Given the description of an element on the screen output the (x, y) to click on. 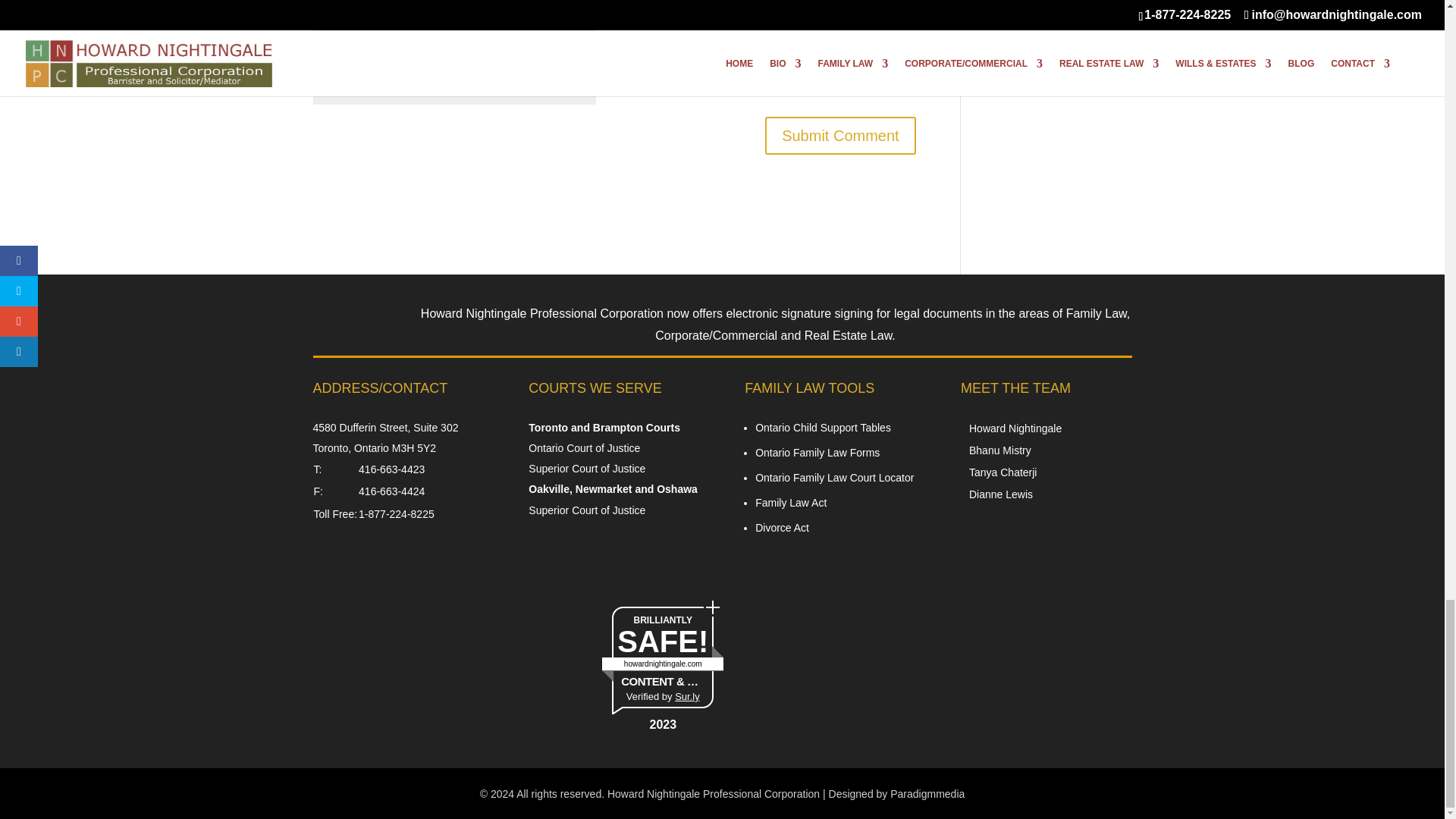
Family Law Act (791, 502)
Ontario Child Support Tables (823, 427)
Ontario Family Law Court Locator (834, 477)
Divorce Act (782, 527)
Submit Comment (840, 135)
Ontario Family Law Forms (817, 452)
